Given the description of an element on the screen output the (x, y) to click on. 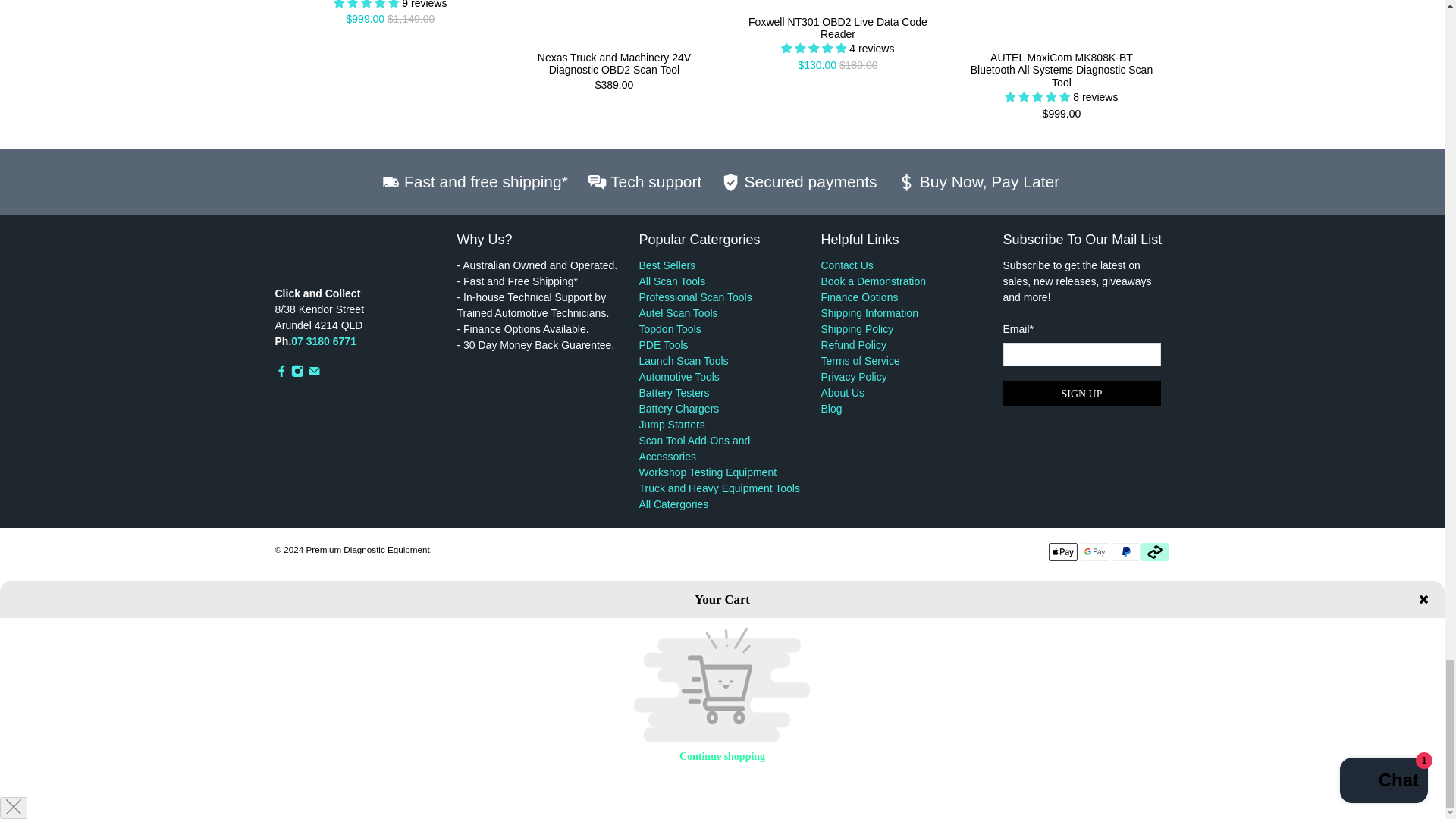
tel:0731806771 (323, 340)
Apple Pay (1062, 551)
Premium Diagnostic Equipment on Facebook (280, 372)
Email Premium Diagnostic Equipment (313, 372)
Premium Diagnostic Equipment on Instagram (297, 372)
Google Pay (1094, 551)
Premium Diagnostic Equipment (358, 257)
PayPal (1126, 551)
